Given the description of an element on the screen output the (x, y) to click on. 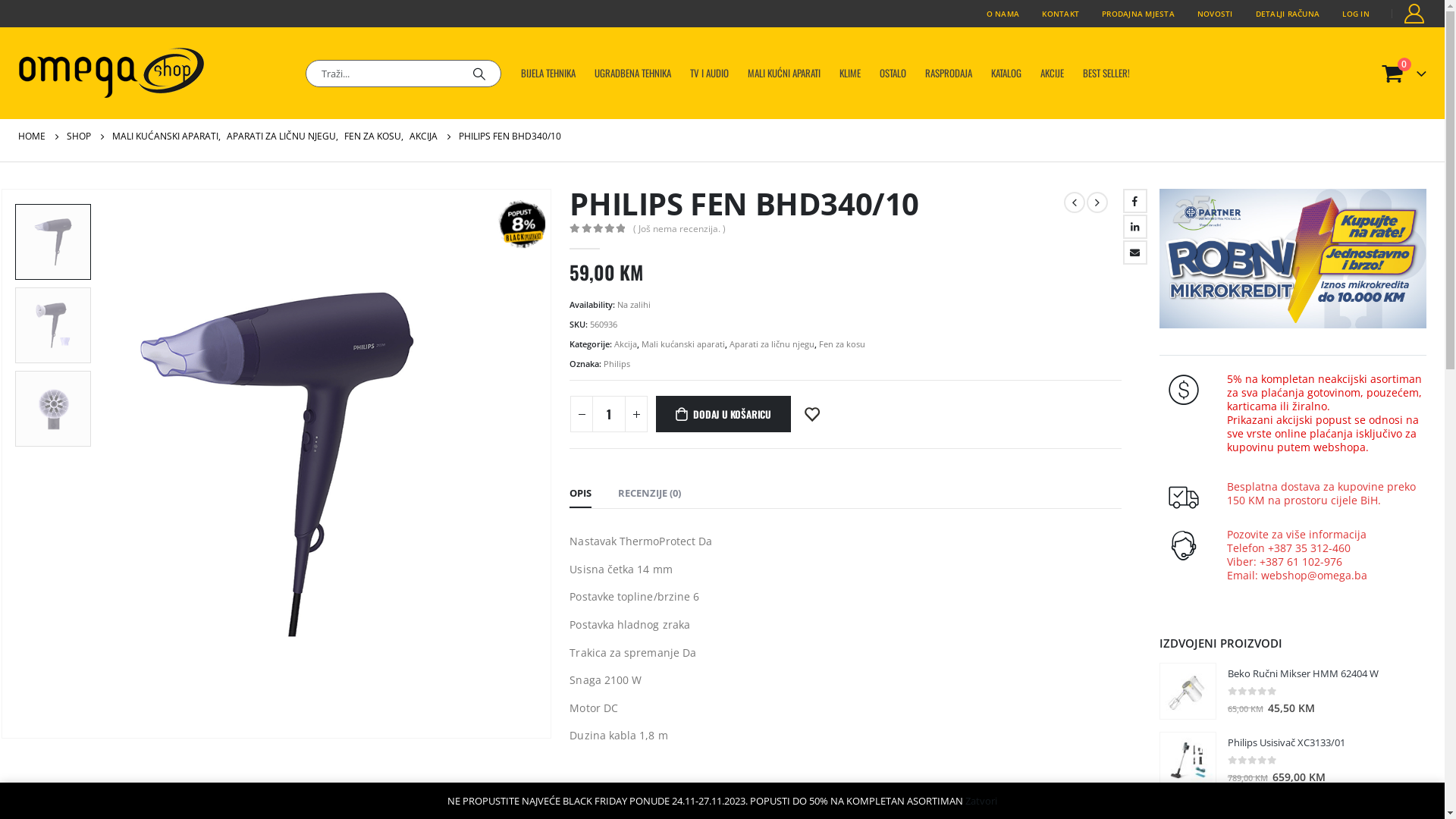
TV I AUDIO Element type: text (708, 73)
PRODAJNA MJESTA Element type: text (1138, 13)
UGRADBENA TEHNIKA Element type: text (632, 73)
FEN ZA KOSU Element type: text (372, 136)
KLIME Element type: text (849, 73)
My Account Element type: hover (1414, 13)
NOVOSTI Element type: text (1215, 13)
LinkedIn Element type: text (1135, 226)
fen-filips Element type: hover (276, 463)
0 Element type: hover (1252, 691)
RASPRODAJA Element type: text (948, 73)
BEST SELLER! Element type: text (1106, 73)
- Element type: text (581, 413)
Philips Element type: text (616, 363)
0 Element type: hover (1252, 760)
KATALOG Element type: text (1006, 73)
Facebook Element type: text (1135, 200)
AKCIJA Element type: text (423, 136)
AKCIJE Element type: text (1052, 73)
Zatvori Element type: text (981, 800)
Akcija Element type: text (625, 343)
Fen za kosu Element type: text (842, 343)
Search Element type: hover (479, 73)
LOG IN Element type: text (1355, 13)
KONTAKT Element type: text (1060, 13)
+ Element type: text (635, 413)
partner Element type: hover (1292, 258)
HOME Element type: text (31, 136)
Email Element type: text (1135, 252)
BIJELA TEHNIKA Element type: text (547, 73)
O NAMA Element type: text (1003, 13)
OSTALO Element type: text (892, 73)
0 Element type: hover (596, 227)
SHOP Element type: text (78, 136)
